Given the description of an element on the screen output the (x, y) to click on. 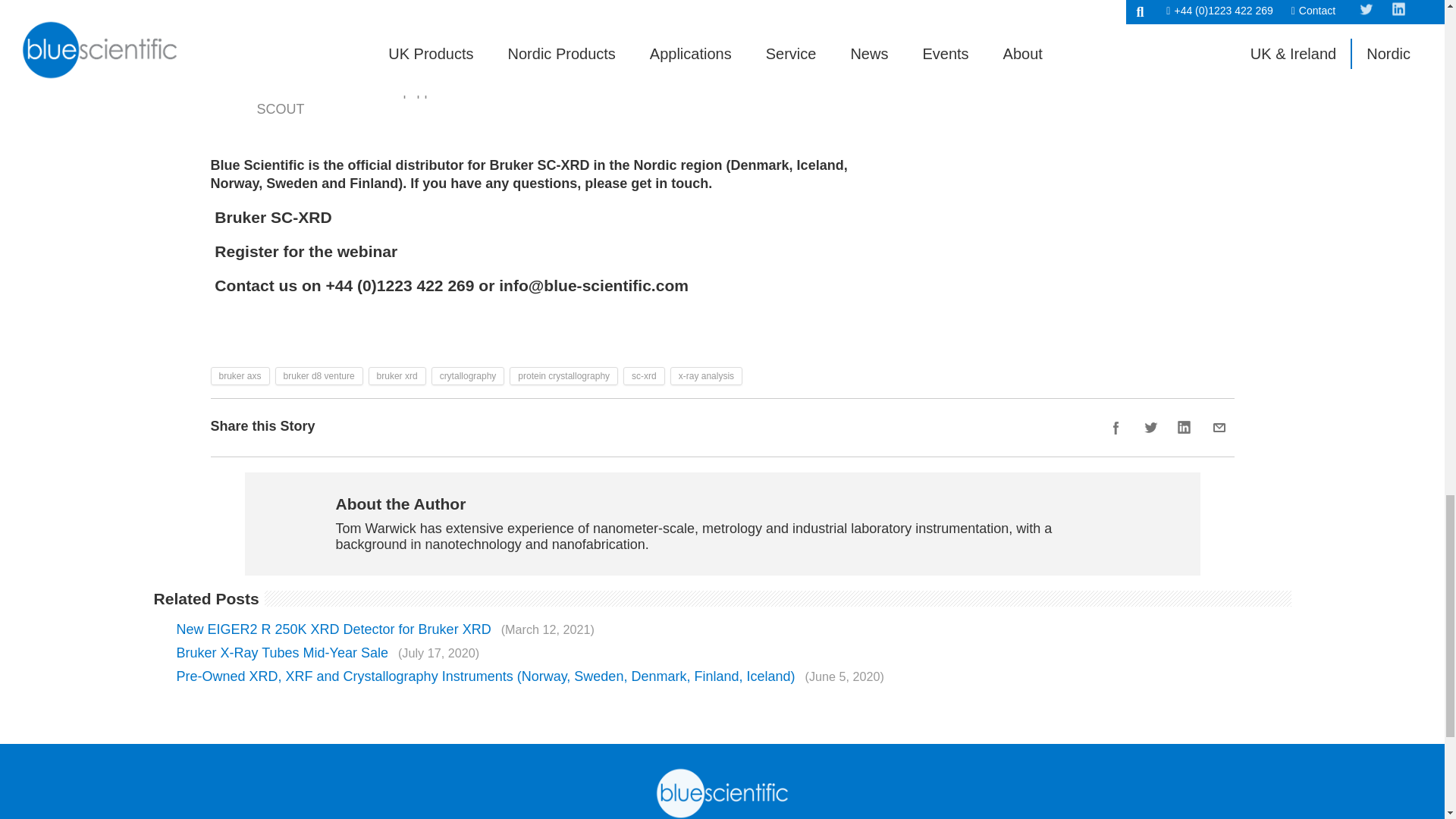
Twitter (1150, 427)
Facebook (1115, 427)
LinkedIn (1184, 427)
E-Mail (1219, 427)
Permanent Link to Bruker X-Ray Tubes Mid-Year Sale (327, 652)
